Given the description of an element on the screen output the (x, y) to click on. 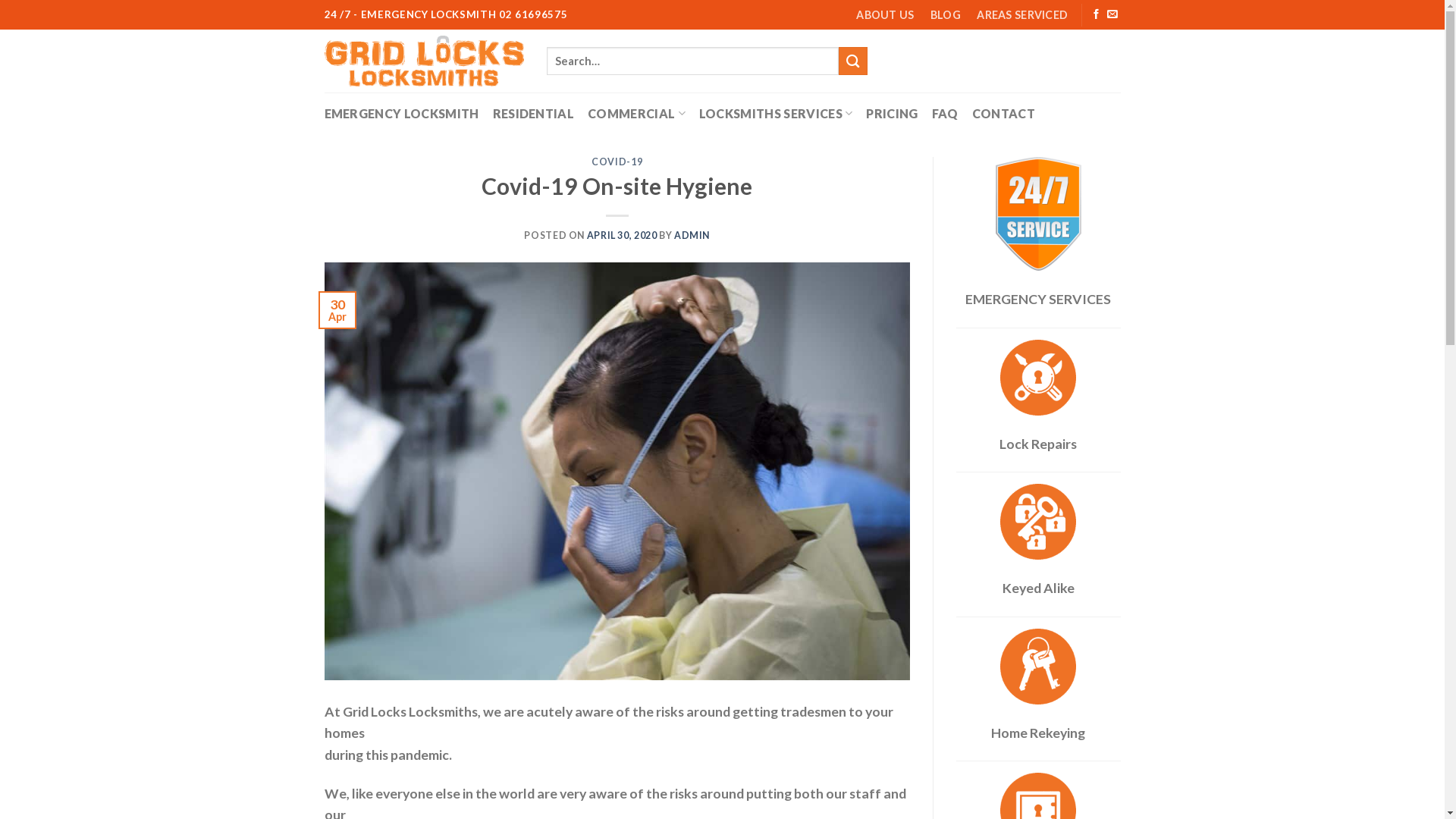
RESIDENTIAL Element type: text (533, 113)
FAQ Element type: text (944, 113)
APRIL 30, 2020 Element type: text (621, 235)
ADMIN Element type: text (691, 235)
ABOUT US Element type: text (885, 14)
PRICING Element type: text (891, 113)
CONTACT Element type: text (1003, 113)
EMERGENCY LOCKSMITH Element type: text (401, 113)
BLOG Element type: text (945, 14)
COMMERCIAL Element type: text (636, 113)
GRID LOCKS - Locksmiths Element type: hover (424, 60)
Follow on Facebook Element type: hover (1096, 14)
Send us an email Element type: hover (1112, 14)
LOCKSMITHS SERVICES Element type: text (776, 113)
COVID-19 Element type: text (616, 161)
AREAS SERVICED Element type: text (1022, 14)
